Given the description of an element on the screen output the (x, y) to click on. 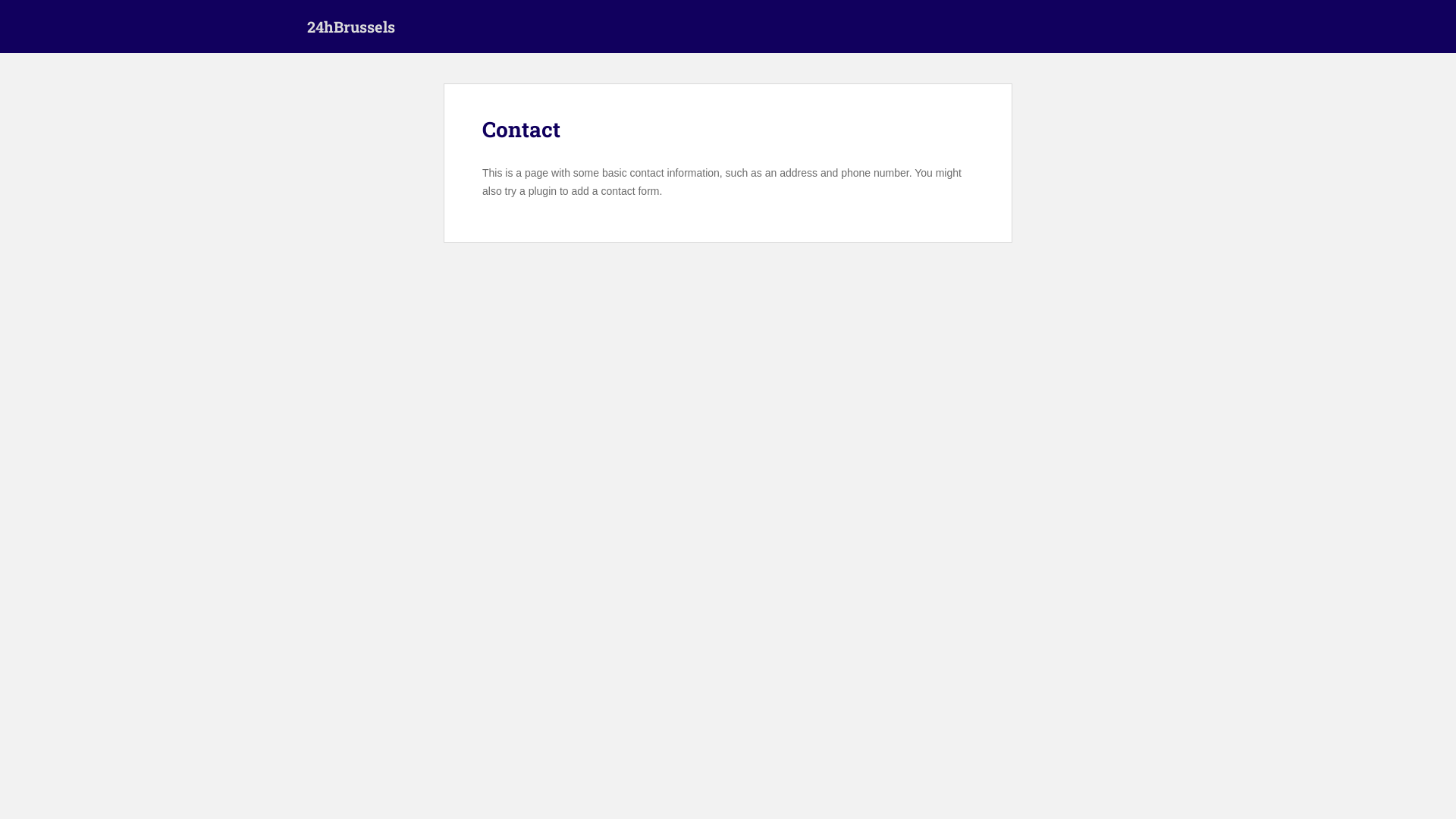
24hBrussels Element type: text (350, 26)
